Given the description of an element on the screen output the (x, y) to click on. 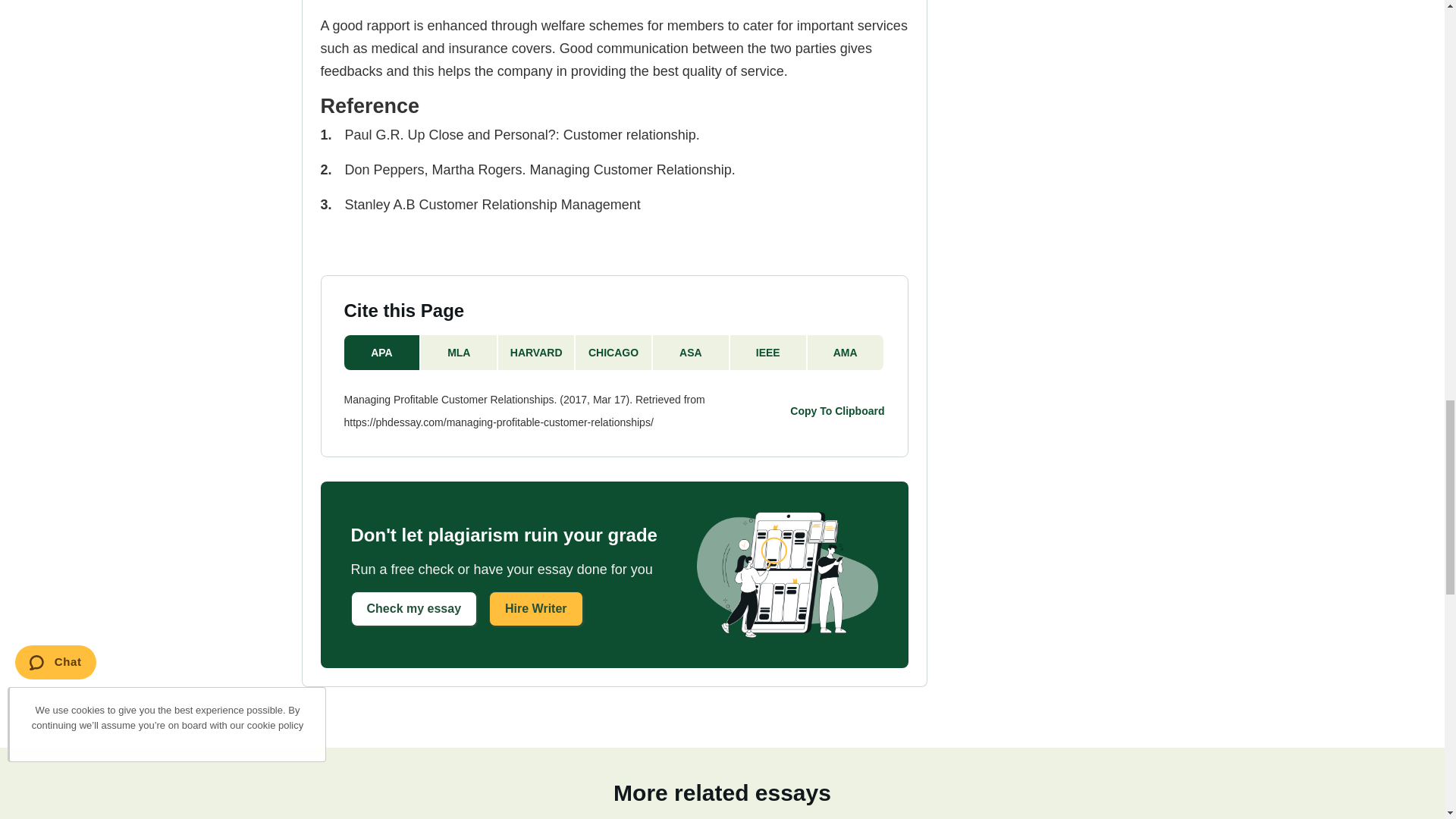
ASA (691, 352)
MLA (458, 352)
HARVARD (536, 352)
CHICAGO (613, 352)
APA (382, 352)
